Given the description of an element on the screen output the (x, y) to click on. 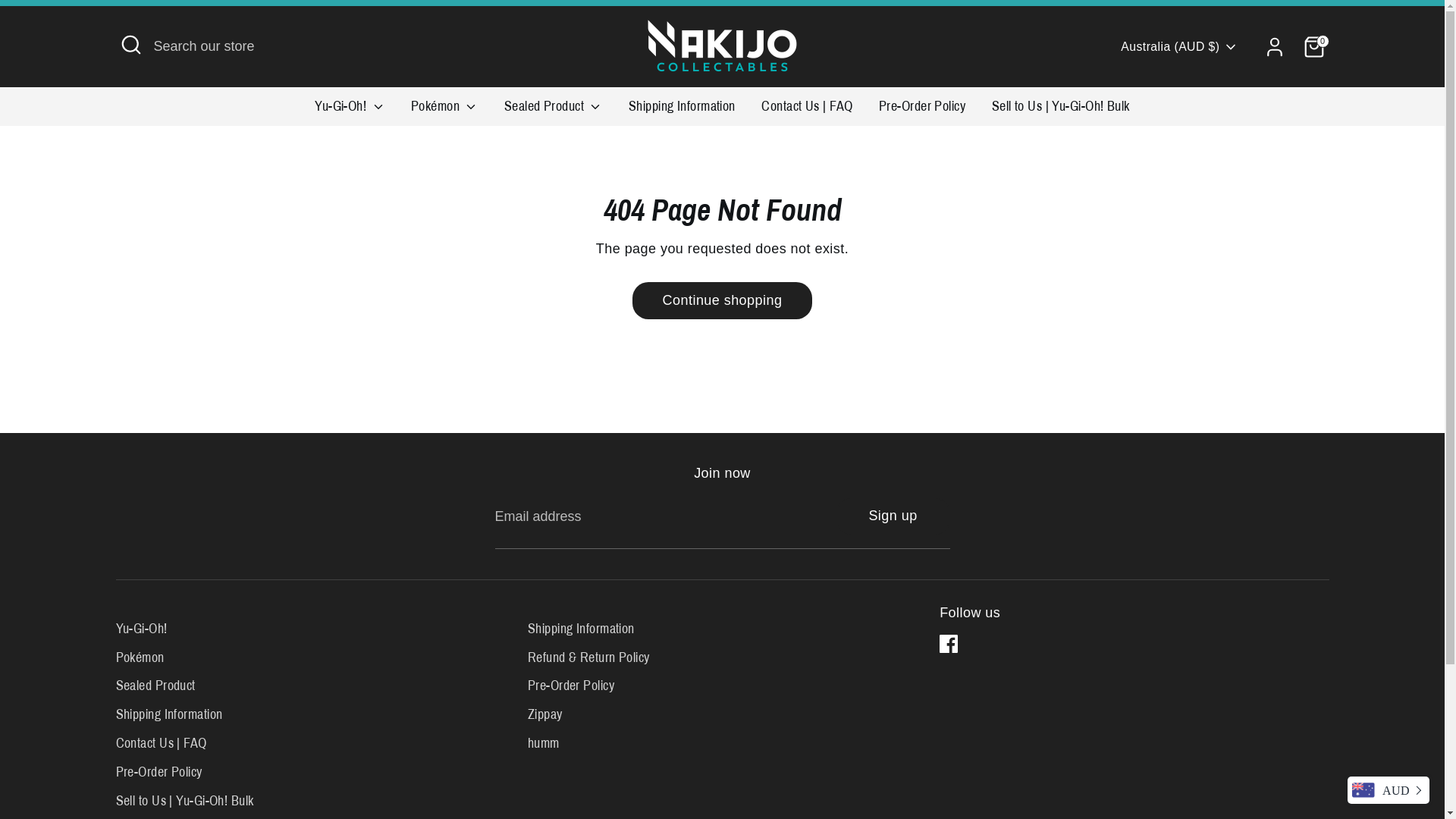
Yu-Gi-Oh! Element type: text (349, 110)
Australia (AUD $) Element type: text (1178, 46)
0 Element type: text (1313, 46)
Refund & Return Policy Element type: text (588, 657)
Pre-Order Policy Element type: text (570, 685)
Contact Us | FAQ Element type: text (160, 742)
Pre-Order Policy Element type: text (158, 771)
Shipping Information Element type: text (580, 628)
Yu-Gi-Oh! Element type: text (140, 628)
Zippay Element type: text (544, 713)
Sign up Element type: text (893, 515)
Shipping Information Element type: text (681, 110)
Continue shopping Element type: text (722, 300)
Sealed Product Element type: text (553, 110)
Sell to Us | Yu-Gi-Oh! Bulk Element type: text (184, 800)
Sealed Product Element type: text (154, 685)
Sell to Us | Yu-Gi-Oh! Bulk Element type: text (1060, 110)
Contact Us | FAQ Element type: text (806, 110)
Pre-Order Policy Element type: text (921, 110)
humm Element type: text (543, 742)
Shipping Information Element type: text (168, 713)
